Given the description of an element on the screen output the (x, y) to click on. 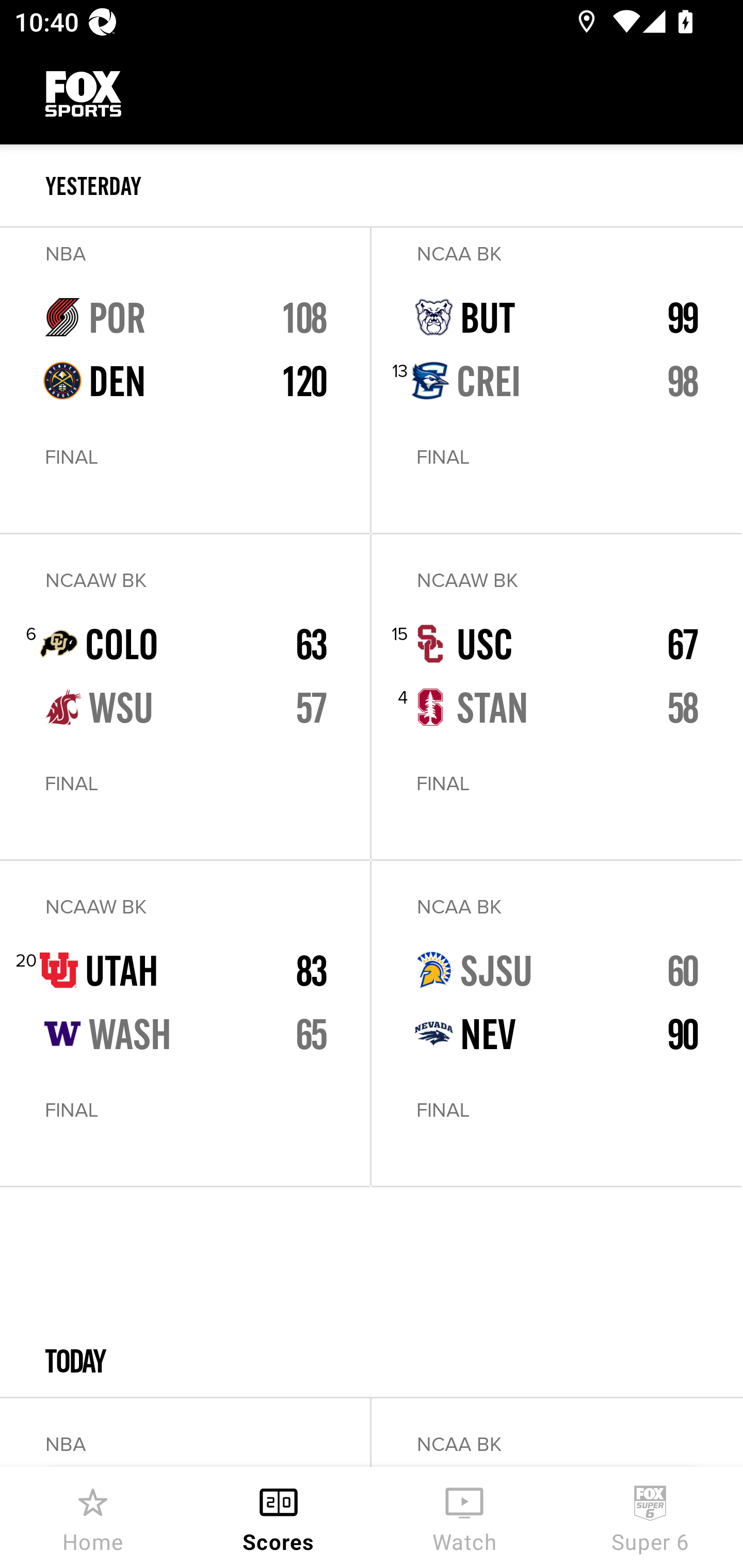
YESTERDAY (394, 185)
NBA POR 108 DEN 120 FINAL (185, 380)
NCAA BK BUT 99 13 CREI 98 FINAL (556, 380)
NCAAW BK 6 COLO 63 WSU 57 FINAL (185, 696)
NCAAW BK 15 USC 67 4 STAN 58 FINAL (556, 696)
NCAAW BK 20 UTAH 83 WASH 65 FINAL (185, 1022)
NCAA BK SJSU 60 NEV 90 FINAL (556, 1022)
TODAY (371, 1291)
NBA (185, 1432)
NCAA BK (556, 1432)
Home (92, 1517)
Watch (464, 1517)
Super 6 (650, 1517)
